Given the description of an element on the screen output the (x, y) to click on. 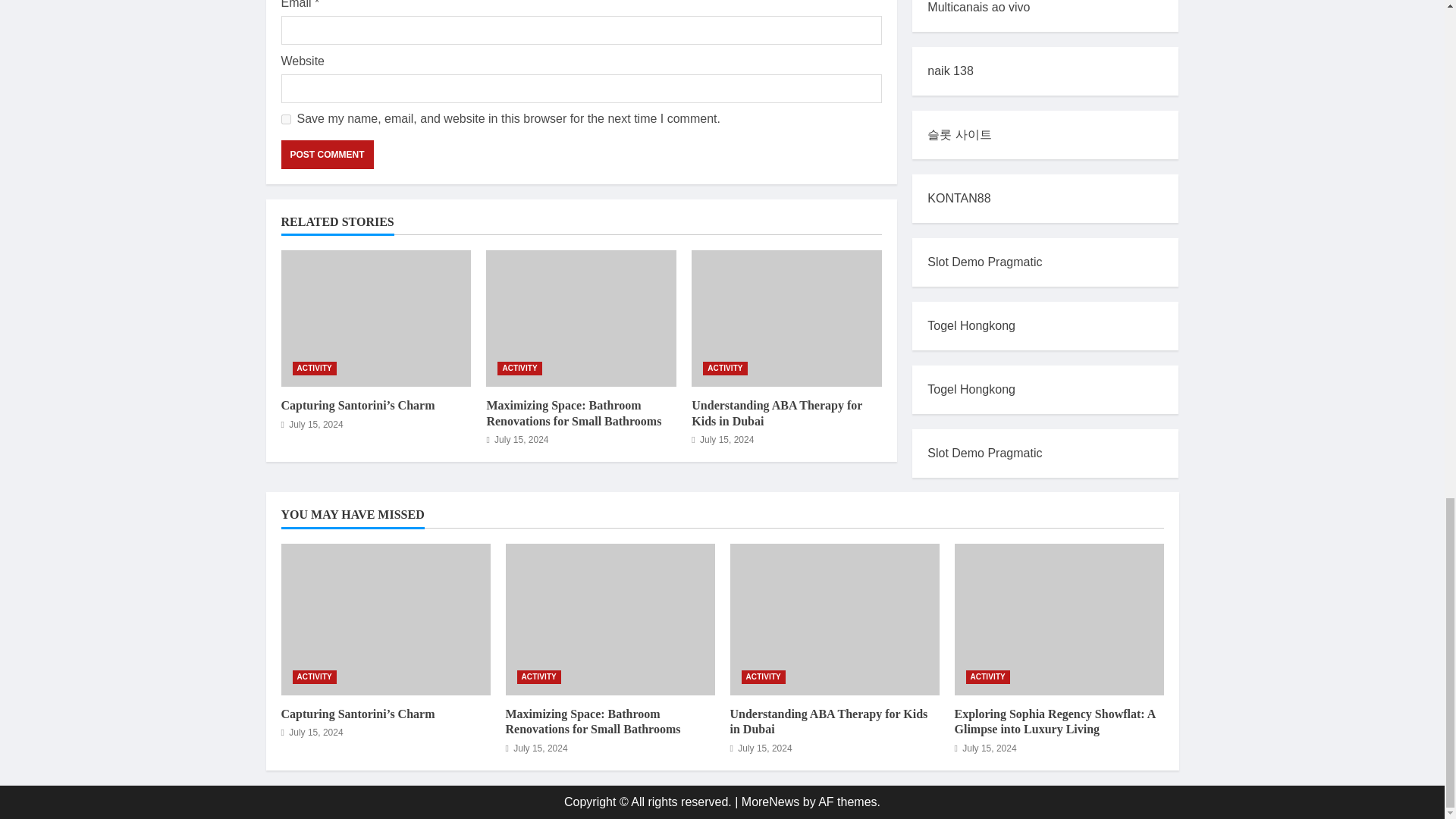
ACTIVITY (314, 368)
Understanding ABA Therapy for Kids in Dubai (786, 318)
ACTIVITY (519, 368)
Post Comment (326, 154)
Post Comment (326, 154)
ACTIVITY (724, 368)
Maximizing Space: Bathroom Renovations for Small Bathrooms (573, 412)
Maximizing Space: Bathroom Renovations for Small Bathrooms (581, 318)
yes (285, 119)
Understanding ABA Therapy for Kids in Dubai (776, 412)
